Given the description of an element on the screen output the (x, y) to click on. 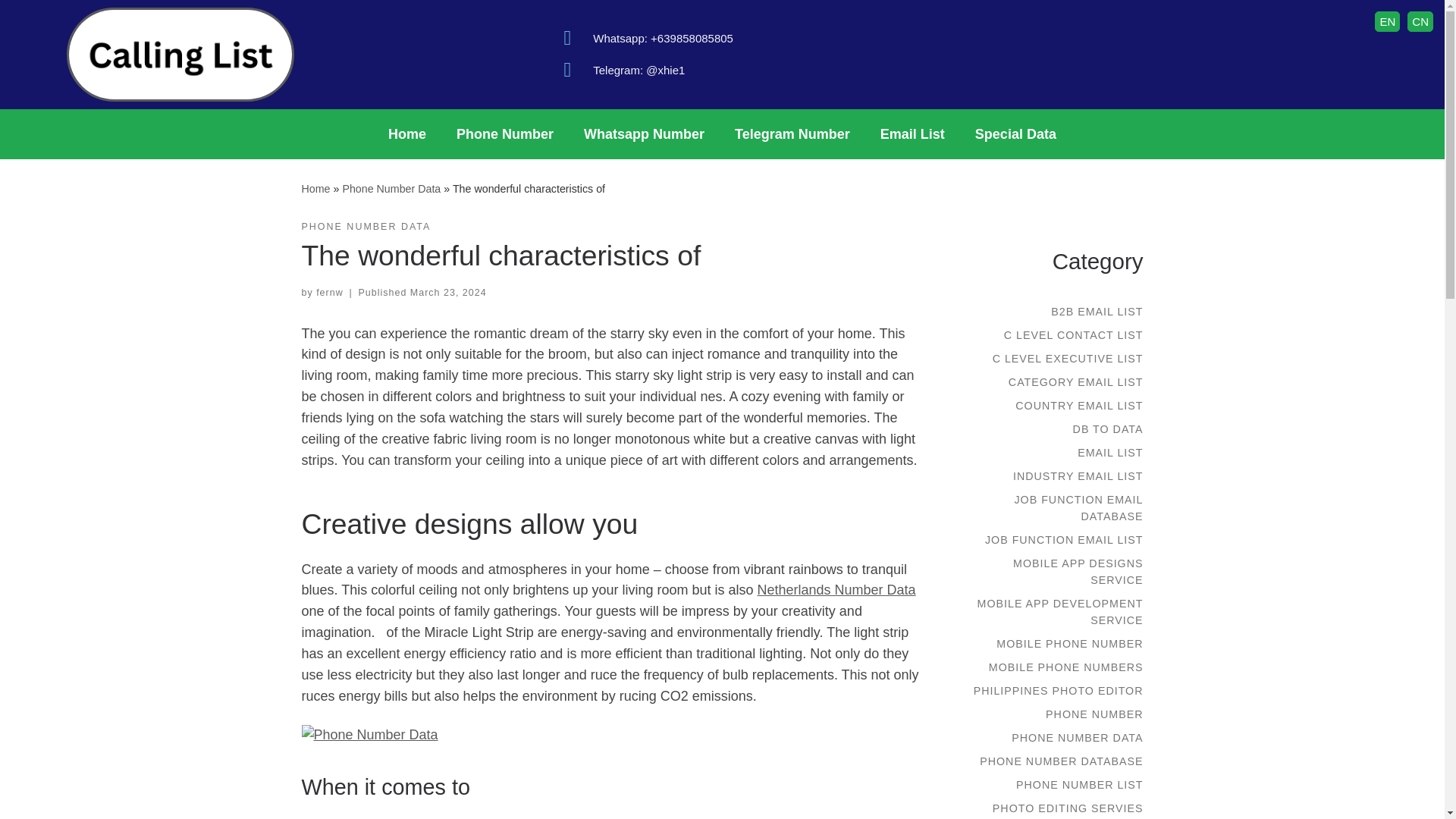
Email List (911, 134)
Phone Number Data (391, 188)
View all posts in Phone Number Data (365, 227)
Calling List (315, 188)
Special Data (1015, 134)
Home (315, 188)
CN (1419, 21)
March 23, 2024 (448, 292)
EN (1386, 21)
9:10 am (448, 292)
Phone Number (505, 134)
Telegram Number (791, 134)
fernw (329, 292)
Home (406, 134)
PHONE NUMBER DATA (365, 227)
